Given the description of an element on the screen output the (x, y) to click on. 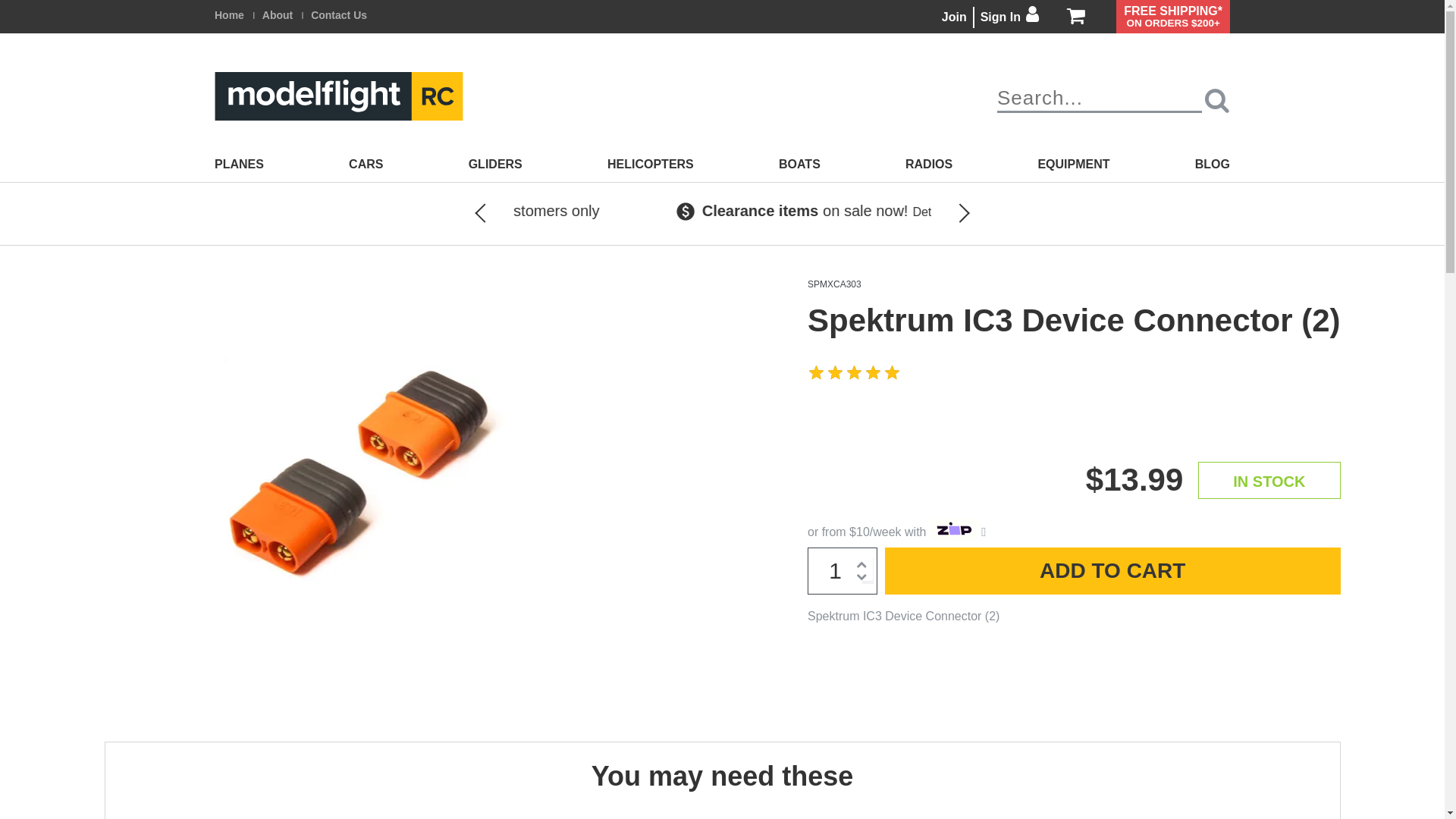
Qty Element type: hover (842, 570)
SEARCH Element type: text (1217, 99)
EQUIPMENT Element type: text (1073, 164)
New Retail Store Opening Hours From the 31st of July 2023 Element type: hover (305, 219)
Contact Us Element type: text (338, 15)
GLIDERS Element type: text (495, 164)
Previous Element type: text (495, 213)
BOATS Element type: text (799, 164)
ADD TO CART Element type: text (1112, 570)
Next Element type: text (950, 213)
Sign In Element type: text (1009, 17)
Home Element type: text (229, 15)
Skip to the beginning of the images gallery Element type: text (103, 673)
HELICOPTERS Element type: text (650, 164)
PLANES Element type: text (238, 164)
100% Element type: hover (854, 372)
Join Element type: text (953, 17)
Skip to the end of the images gallery Element type: text (103, 279)
BLOG Element type: text (1212, 164)
RADIOS Element type: text (928, 164)
CARS Element type: text (365, 164)
My Cart Element type: text (1075, 16)
About Element type: text (277, 15)
